Given the description of an element on the screen output the (x, y) to click on. 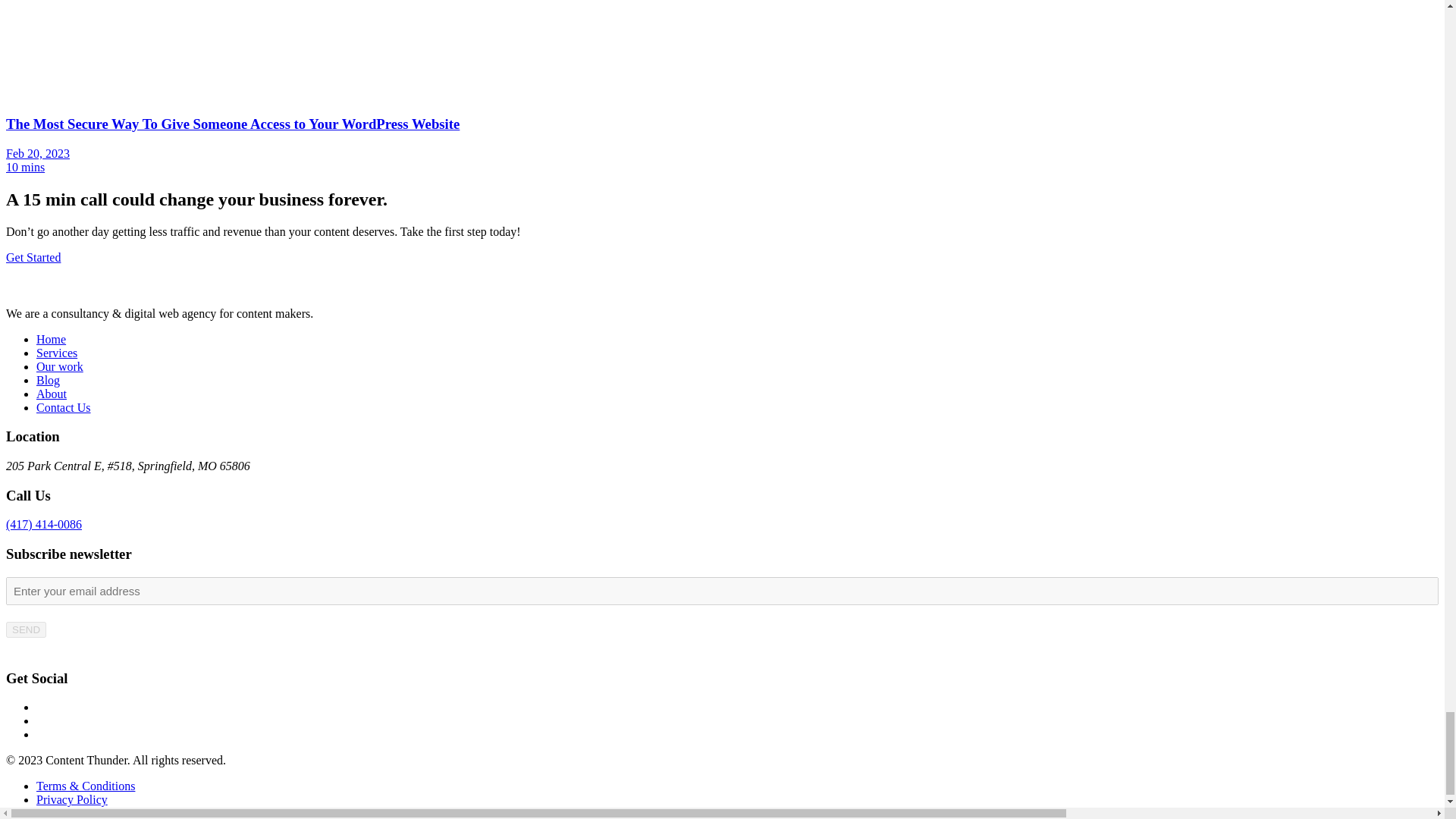
Contact Us (63, 407)
About (51, 393)
SEND (25, 629)
Our work (59, 366)
Home (50, 338)
Services (56, 352)
Blog (47, 379)
Get Started (33, 256)
SEND (25, 629)
